Given the description of an element on the screen output the (x, y) to click on. 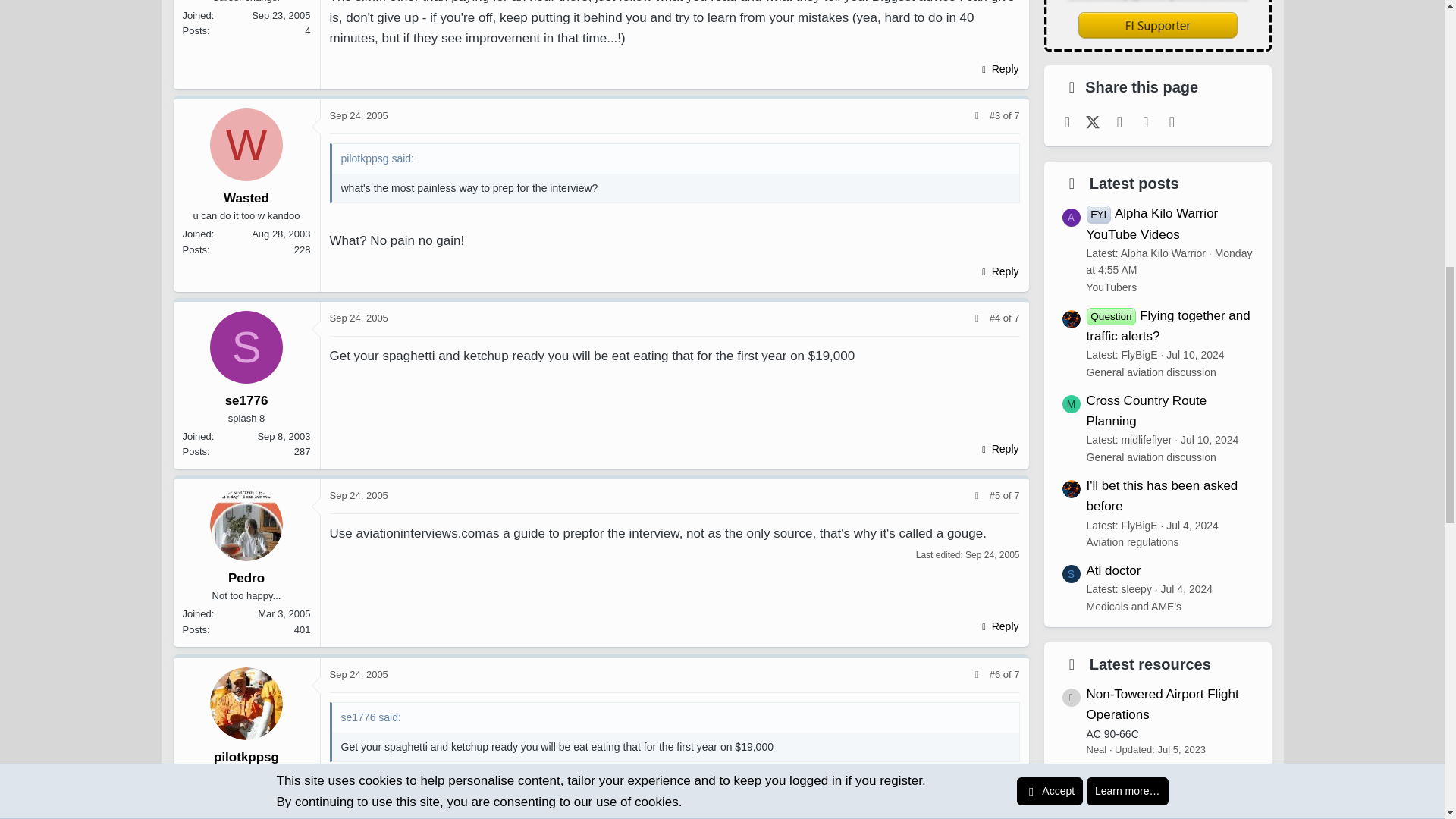
Sep 24, 2005 at 6:11 PM (992, 554)
Reply, quoting this message (998, 448)
Sep 24, 2005 at 11:06 AM (358, 317)
Sep 24, 2005 at 11:11 AM (358, 495)
Reply, quoting this message (998, 68)
Reply, quoting this message (998, 271)
Reply, quoting this message (998, 626)
Sep 24, 2005 at 9:48 AM (358, 115)
